Given the description of an element on the screen output the (x, y) to click on. 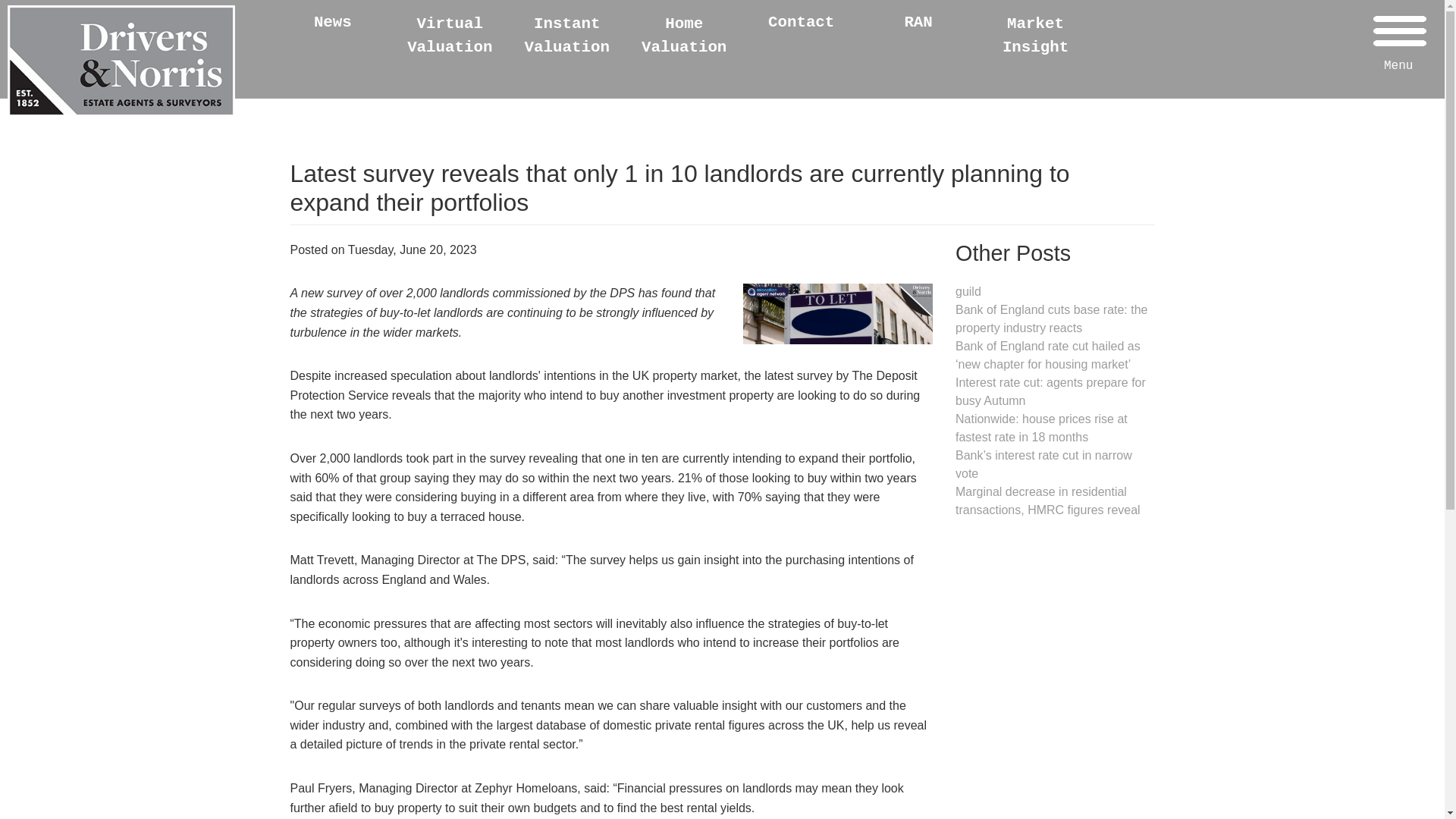
Interest rate cut: agents prepare for busy Autumn (1050, 391)
News (333, 22)
guild (968, 291)
Virtual Valuation (449, 35)
Instant Valuation (567, 35)
Nationwide: house prices rise at fastest rate in 18 months (1040, 427)
RAN (917, 22)
Home Valuation (684, 35)
Bank of England cuts base rate: the property industry reacts (1051, 318)
Contact (801, 22)
Market Insight (1035, 35)
